Given the description of an element on the screen output the (x, y) to click on. 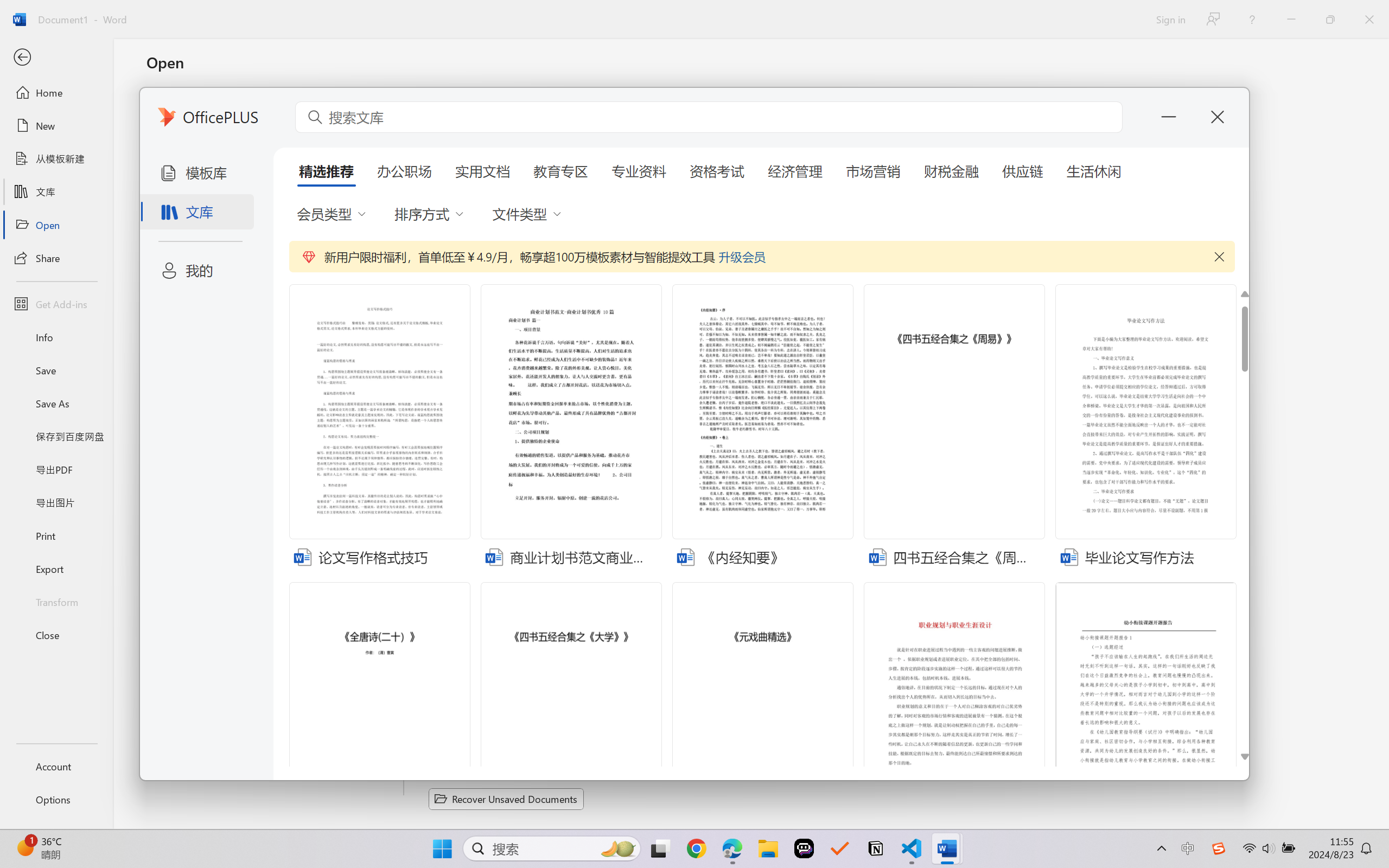
Info (56, 337)
